Given the description of an element on the screen output the (x, y) to click on. 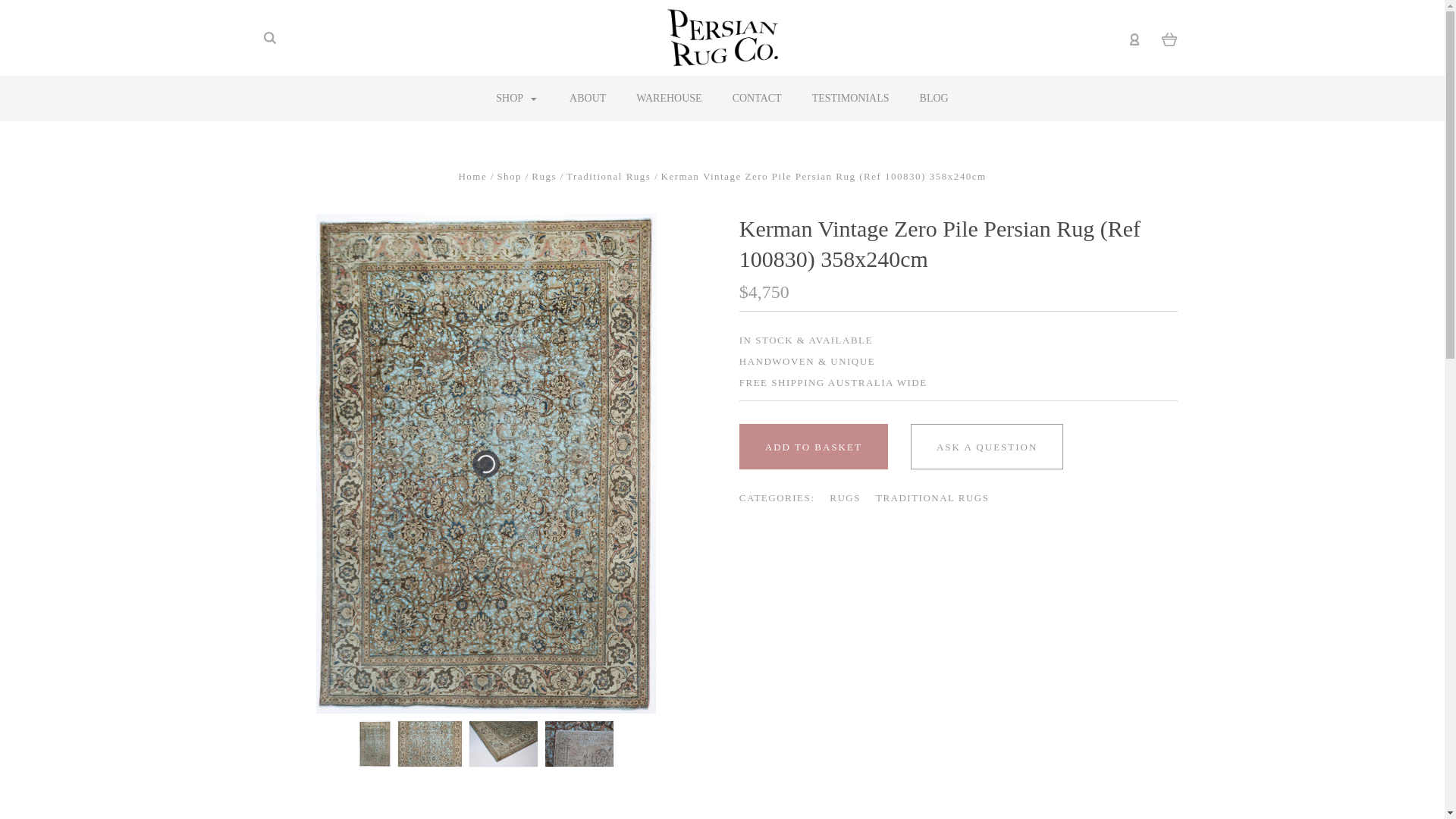
0 (1169, 38)
SHOP (517, 99)
